Given the description of an element on the screen output the (x, y) to click on. 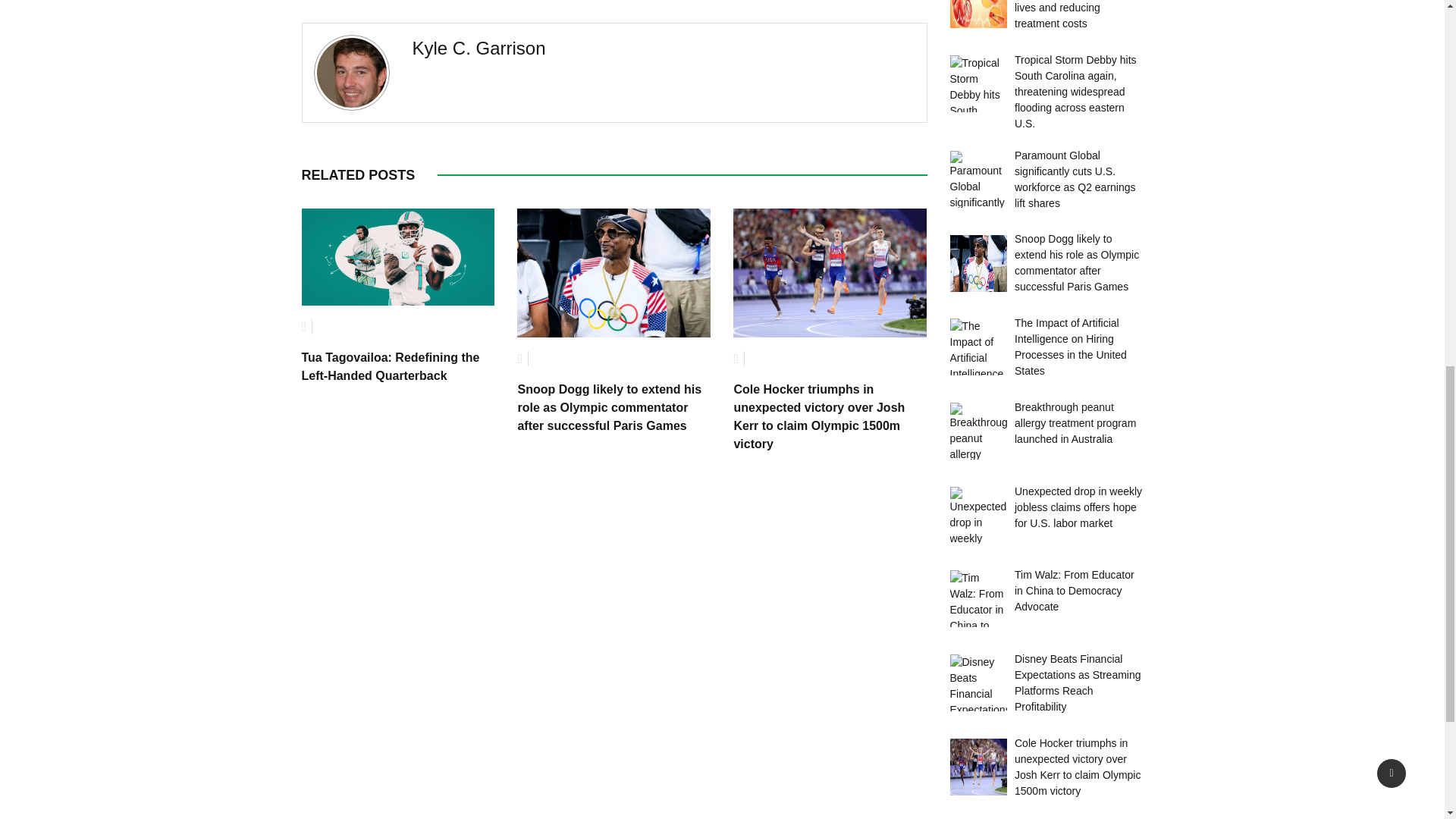
Tua Tagovailoa: Redefining the Left-Handed Quarterback (390, 366)
